Given the description of an element on the screen output the (x, y) to click on. 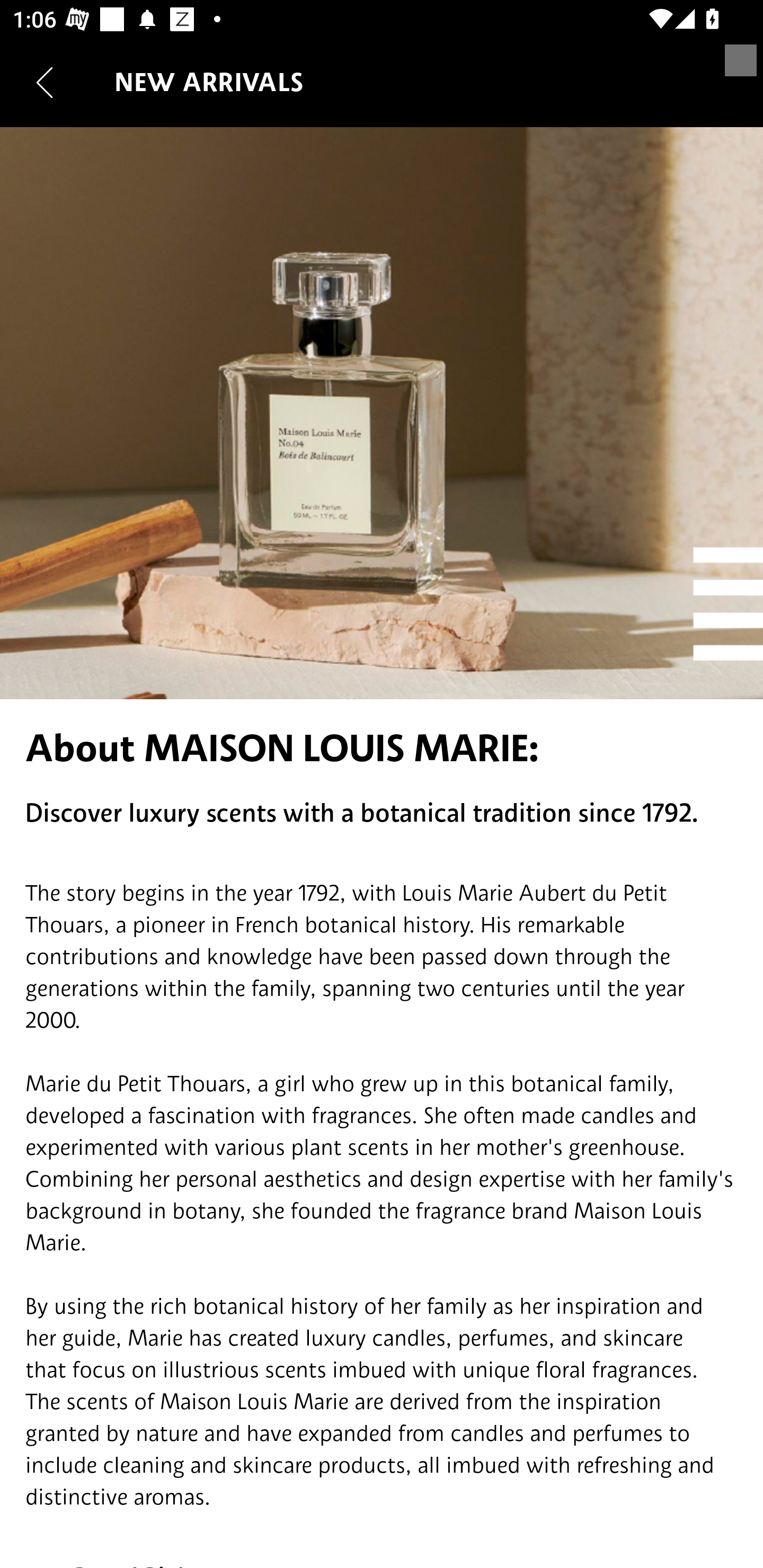
Navigate up (44, 82)
About MAISON LOUIS MARIE: (381, 747)
